Given the description of an element on the screen output the (x, y) to click on. 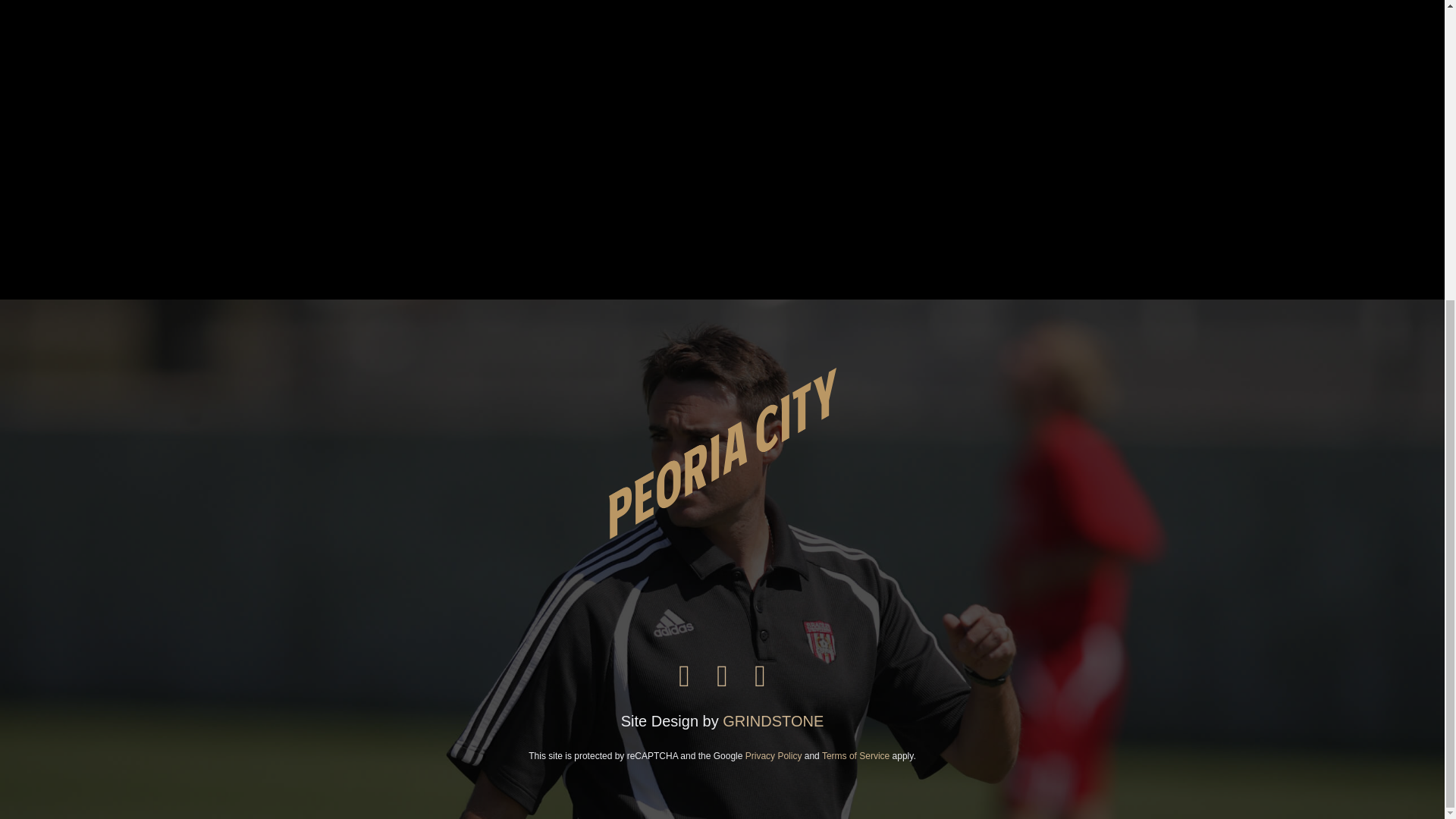
GRINDSTONE (773, 720)
Terms of Service (855, 756)
Privacy Policy (773, 756)
